Given the description of an element on the screen output the (x, y) to click on. 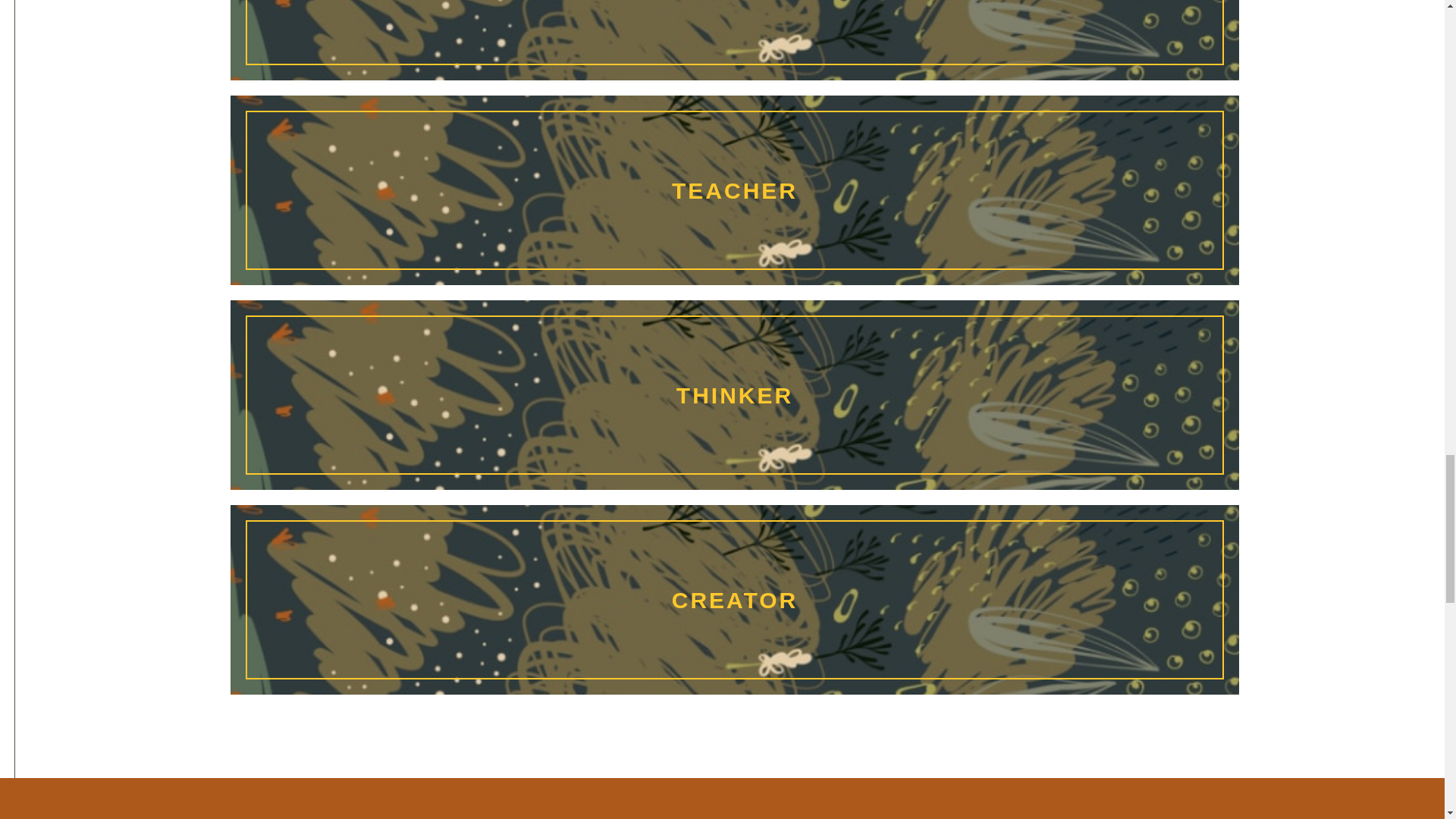
MOTHER (735, 32)
